Given the description of an element on the screen output the (x, y) to click on. 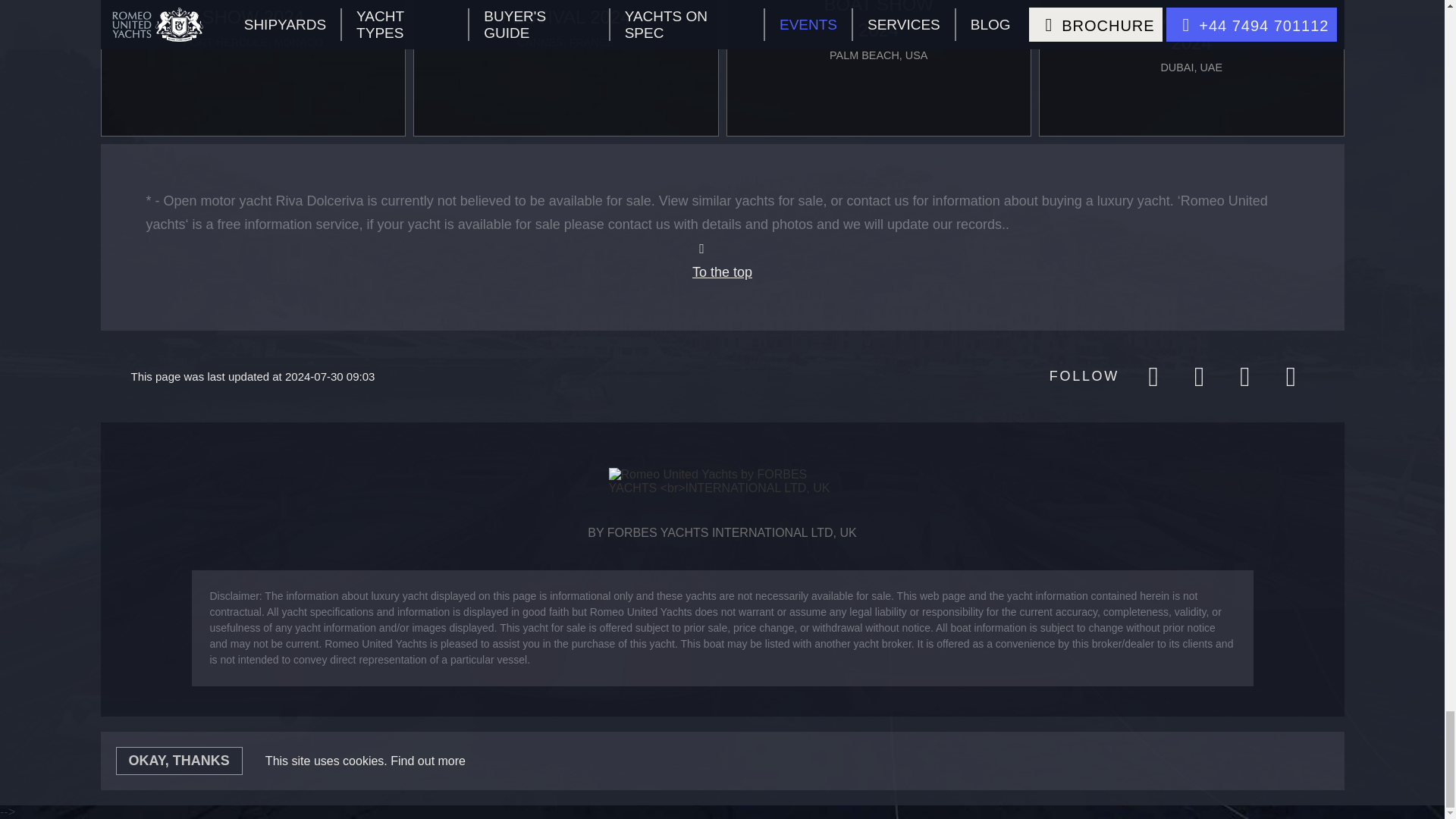
Twitter (1244, 376)
Facebook (1153, 376)
To the top (722, 261)
Pinterest (1289, 376)
Instagram (1198, 376)
